Given the description of an element on the screen output the (x, y) to click on. 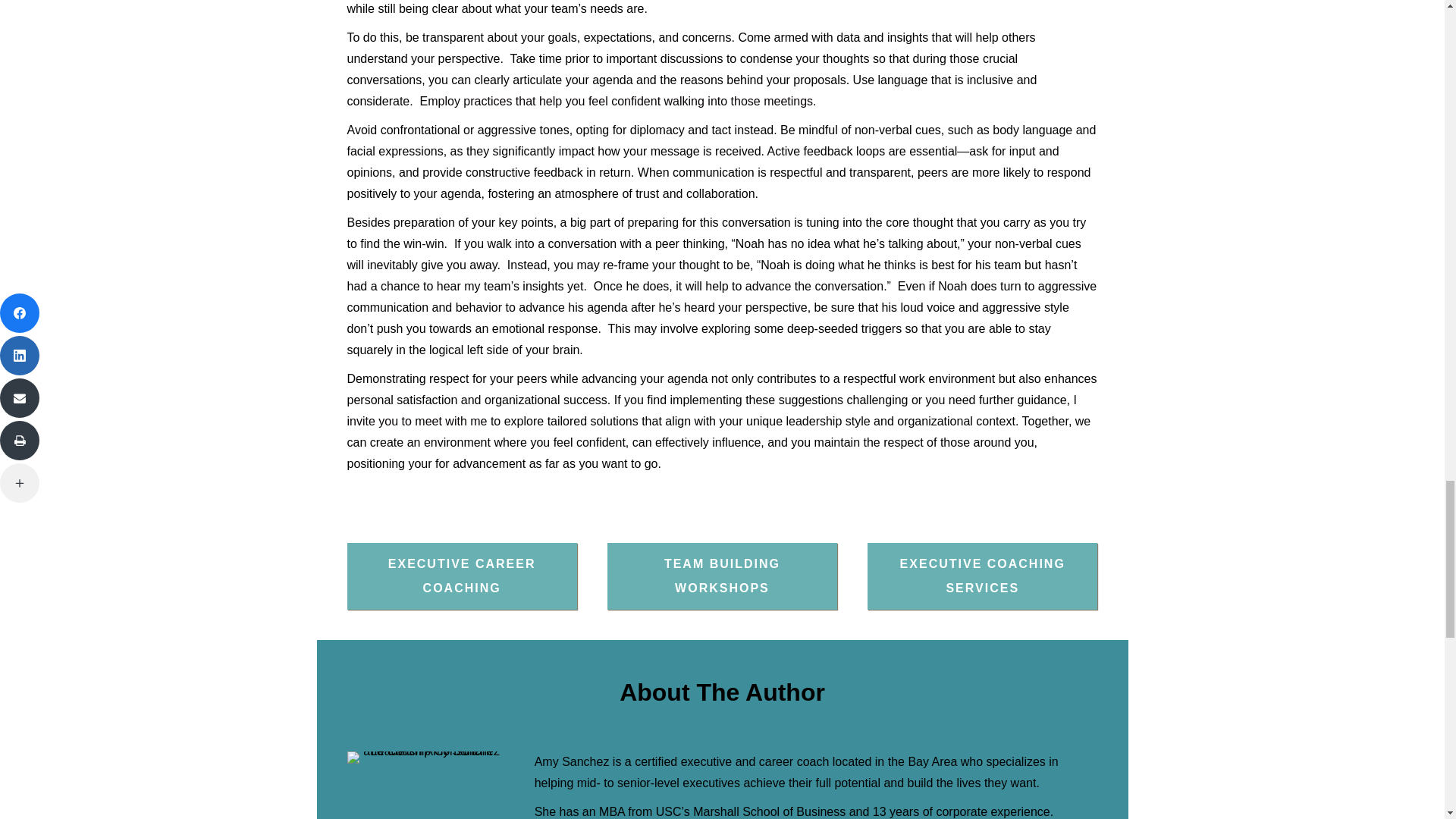
TEAM BUILDING WORKSHOPS (722, 575)
I invite you to meet with me (712, 410)
Amy Sanchez Leadership Consultant and Coach (425, 757)
EXECUTIVE COACHING SERVICES (982, 575)
EXECUTIVE CAREER COACHING (461, 575)
